Given the description of an element on the screen output the (x, y) to click on. 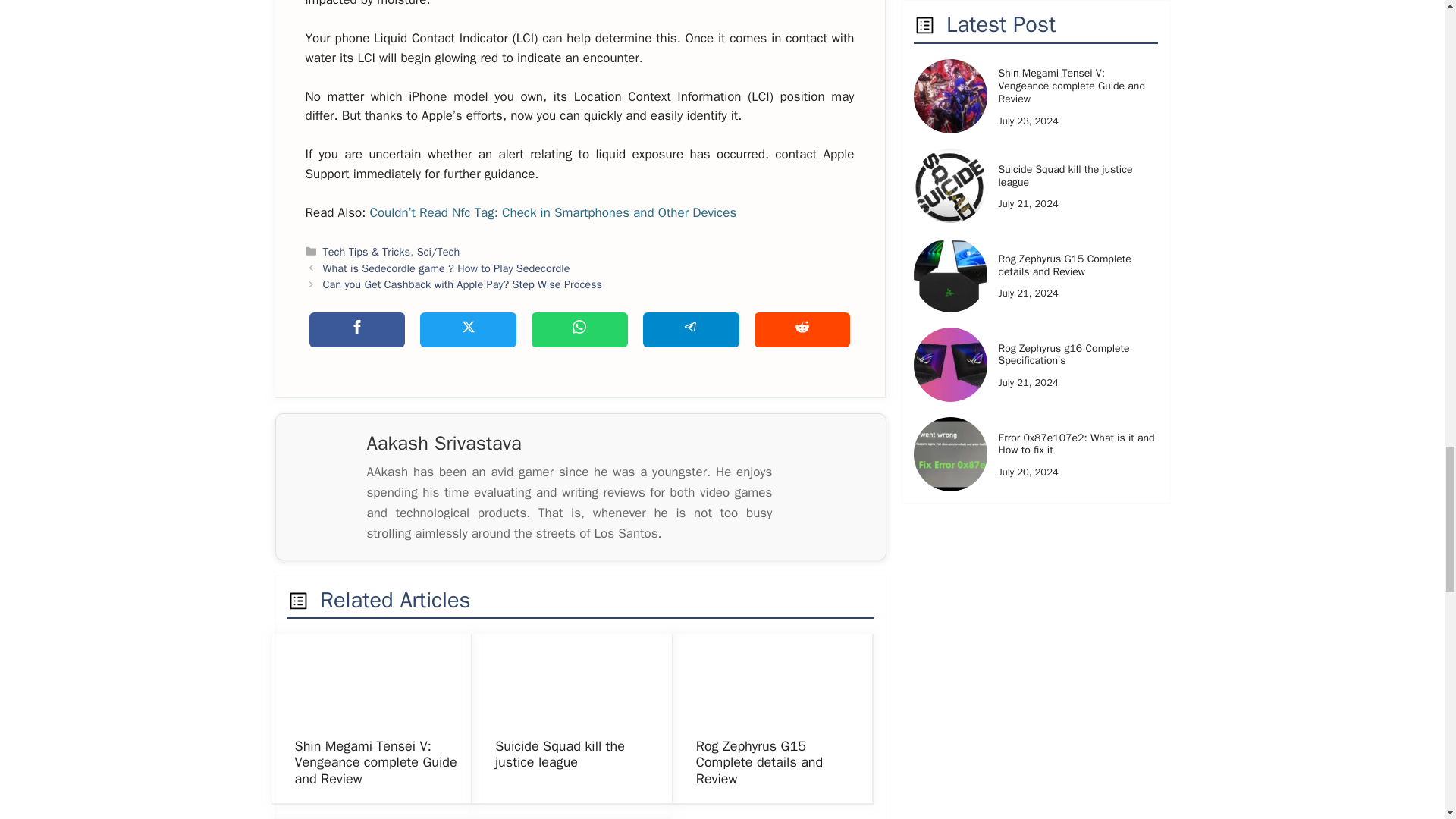
What is Sedecordle game ? How to Play Sedecordle (446, 268)
Shin Megami Tensei V: Vengeance complete Guide and Review (375, 762)
Can you Get Cashback with Apple Pay? Step Wise Process (462, 284)
